Given the description of an element on the screen output the (x, y) to click on. 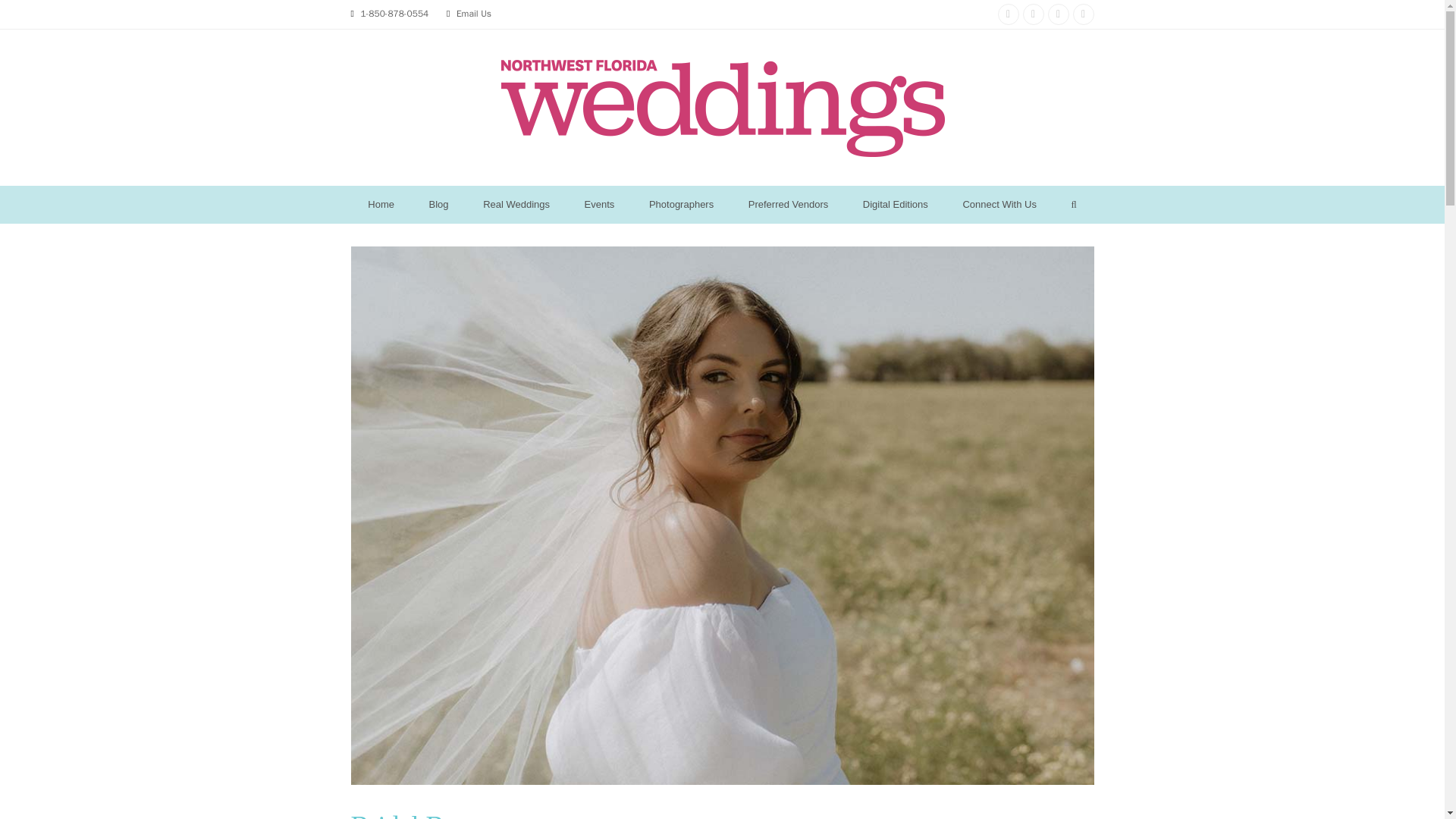
Twitter (1082, 14)
Real Weddings (515, 204)
Connect With Us (999, 204)
Digital Editions (894, 204)
Facebook (1032, 14)
Pinterest (1058, 14)
Instagram (1008, 14)
Blog (438, 204)
Twitter (1082, 14)
Facebook (1032, 14)
